Given the description of an element on the screen output the (x, y) to click on. 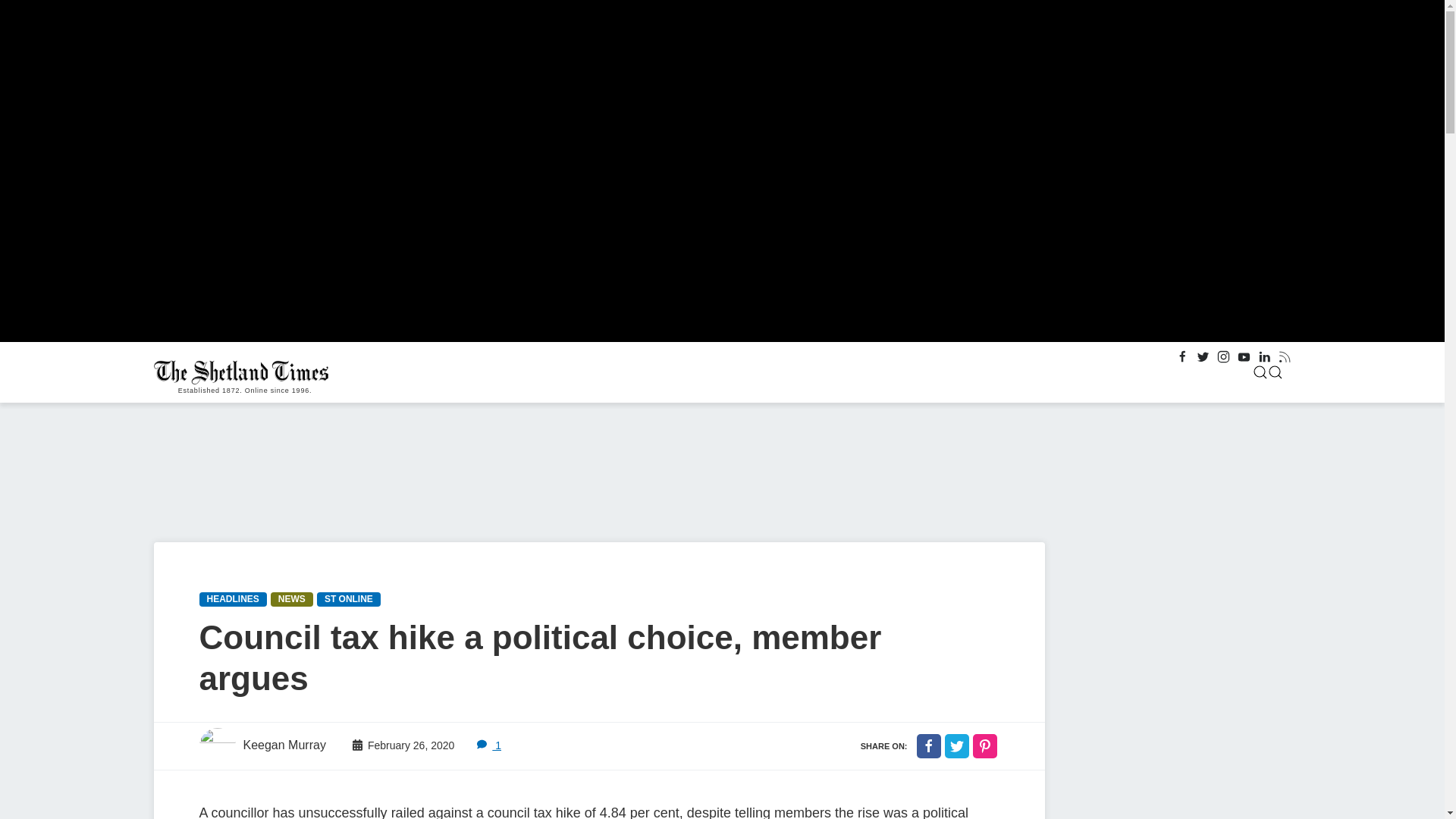
NEWS (291, 599)
HEADLINES (232, 599)
3rd party ad content (1176, 637)
1 (488, 745)
3rd party ad content (579, 474)
Established 1872. Online since 1996. (244, 372)
3rd party ad content (1176, 786)
Keegan Murray (261, 746)
ST ONLINE (348, 599)
